Given the description of an element on the screen output the (x, y) to click on. 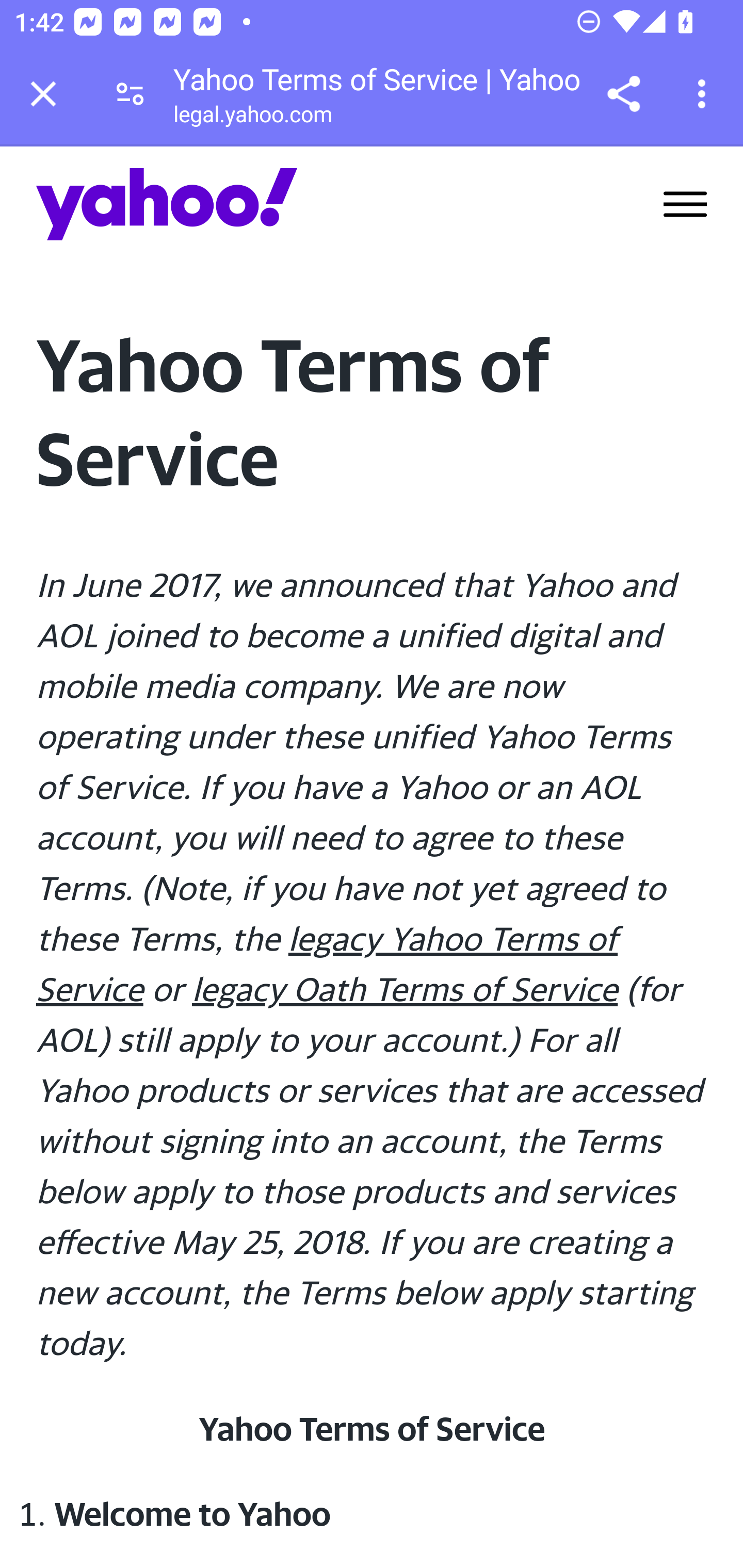
Close tab (43, 93)
Share (623, 93)
Customize and control Google Chrome (705, 93)
Connection is secure (129, 93)
legal.yahoo.com (252, 117)
Yahoo logo (166, 203)
legacy Yahoo Terms of Service (327, 963)
legacy Oath Terms of Service (404, 988)
